Given the description of an element on the screen output the (x, y) to click on. 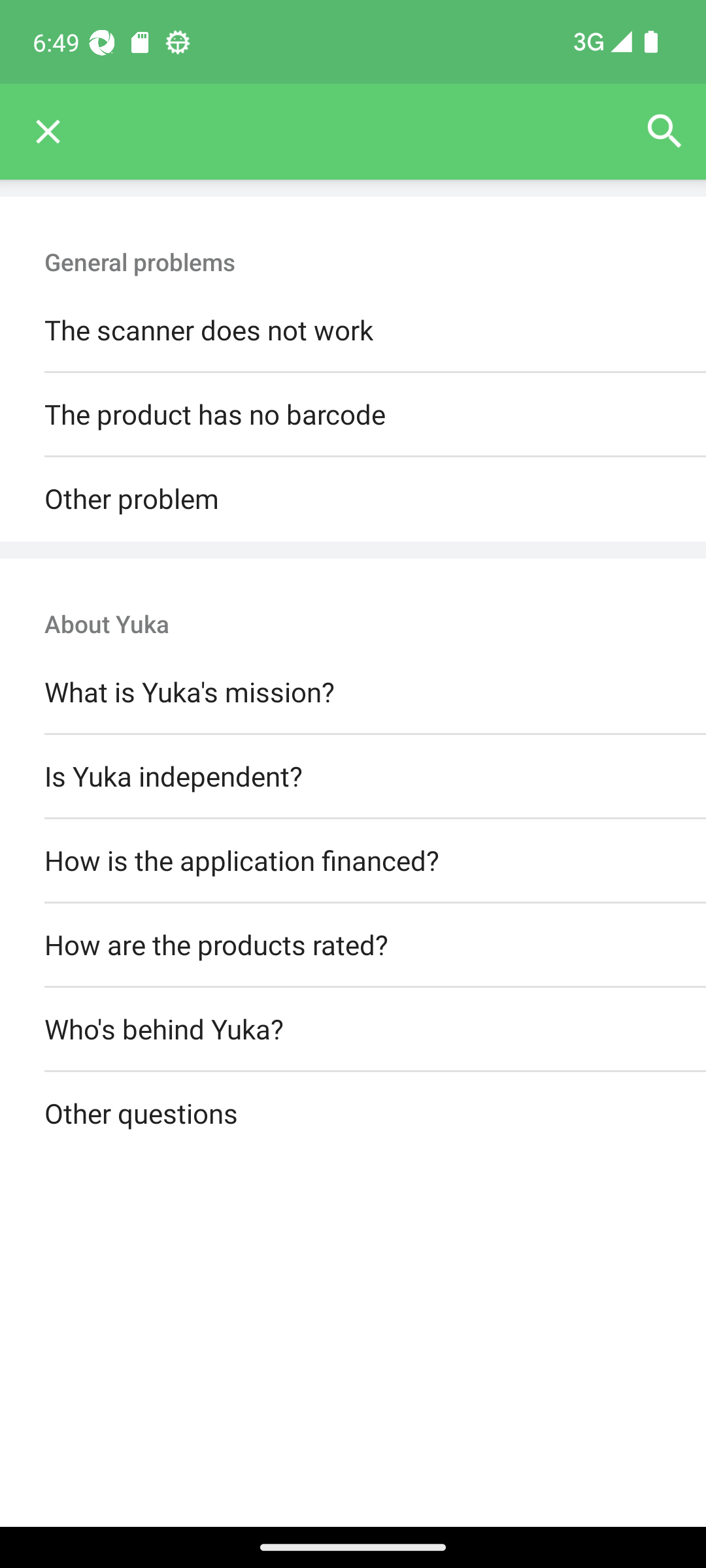
Search (664, 131)
The scanner does not work (353, 330)
The product has no barcode (353, 415)
Other problem (353, 498)
What is Yuka's mission? (353, 692)
Is Yuka independent? (353, 776)
How is the application financed? (353, 860)
How are the products rated? (353, 945)
Who's behind Yuka? (353, 1029)
Other questions (353, 1114)
